Given the description of an element on the screen output the (x, y) to click on. 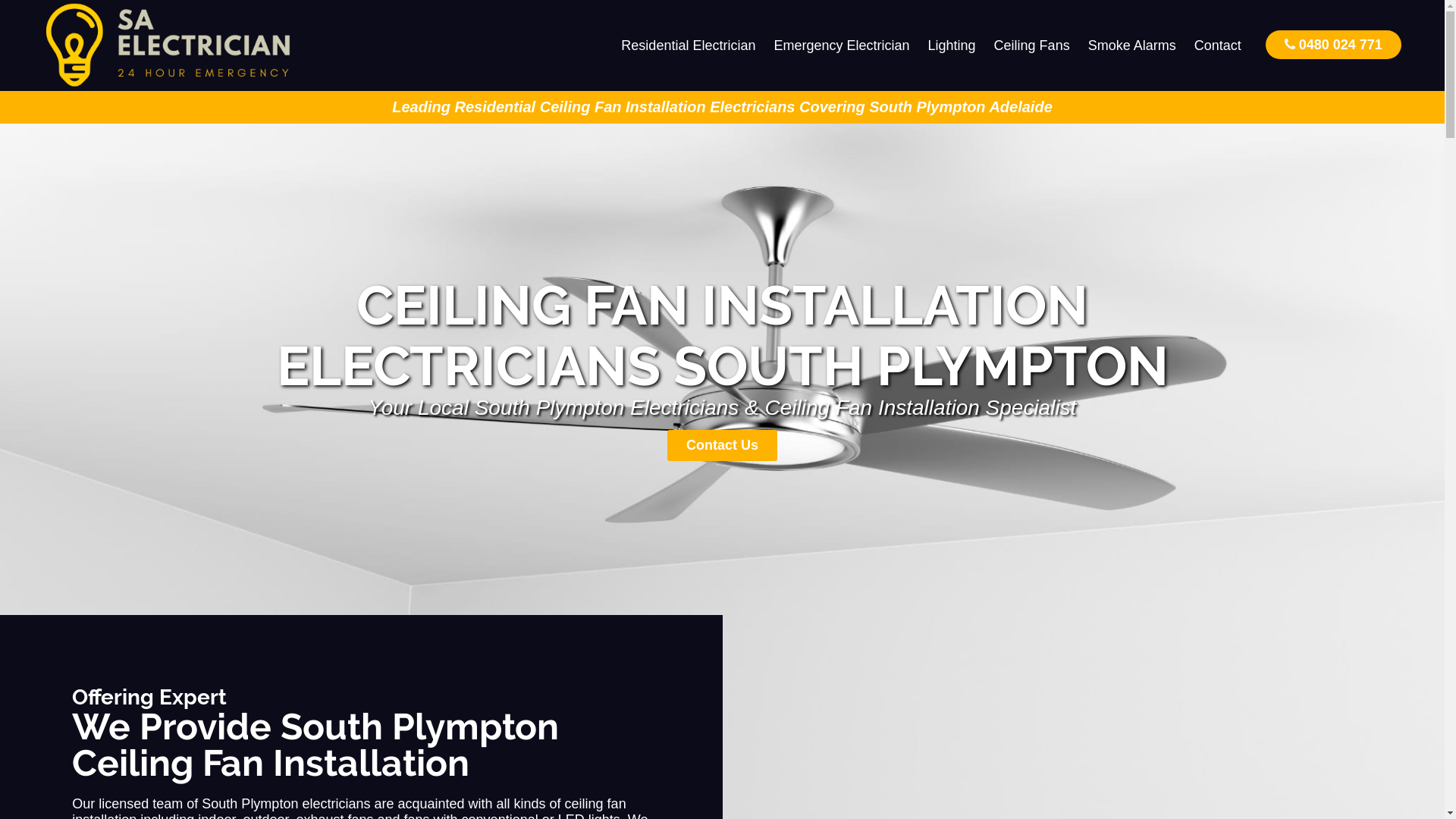
Contact Us Element type: text (722, 445)
Lighting Element type: text (952, 45)
Contact Element type: text (1217, 45)
Ceiling Fans Element type: text (1032, 45)
Residential Electrician Element type: text (687, 45)
Smoke Alarms Element type: text (1132, 45)
Emergency Electrician Element type: text (841, 45)
0480 024 771 Element type: text (1333, 44)
